Given the description of an element on the screen output the (x, y) to click on. 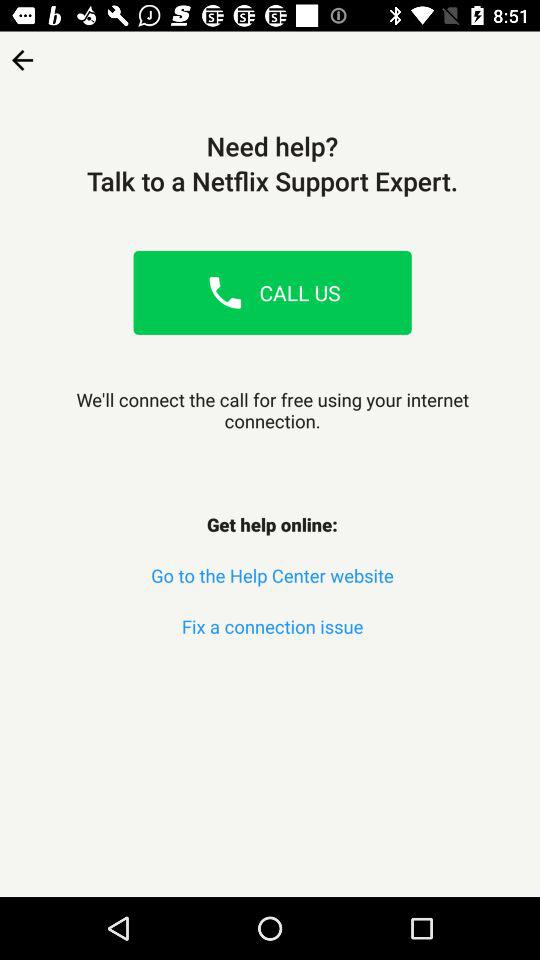
open the go to the (272, 575)
